Given the description of an element on the screen output the (x, y) to click on. 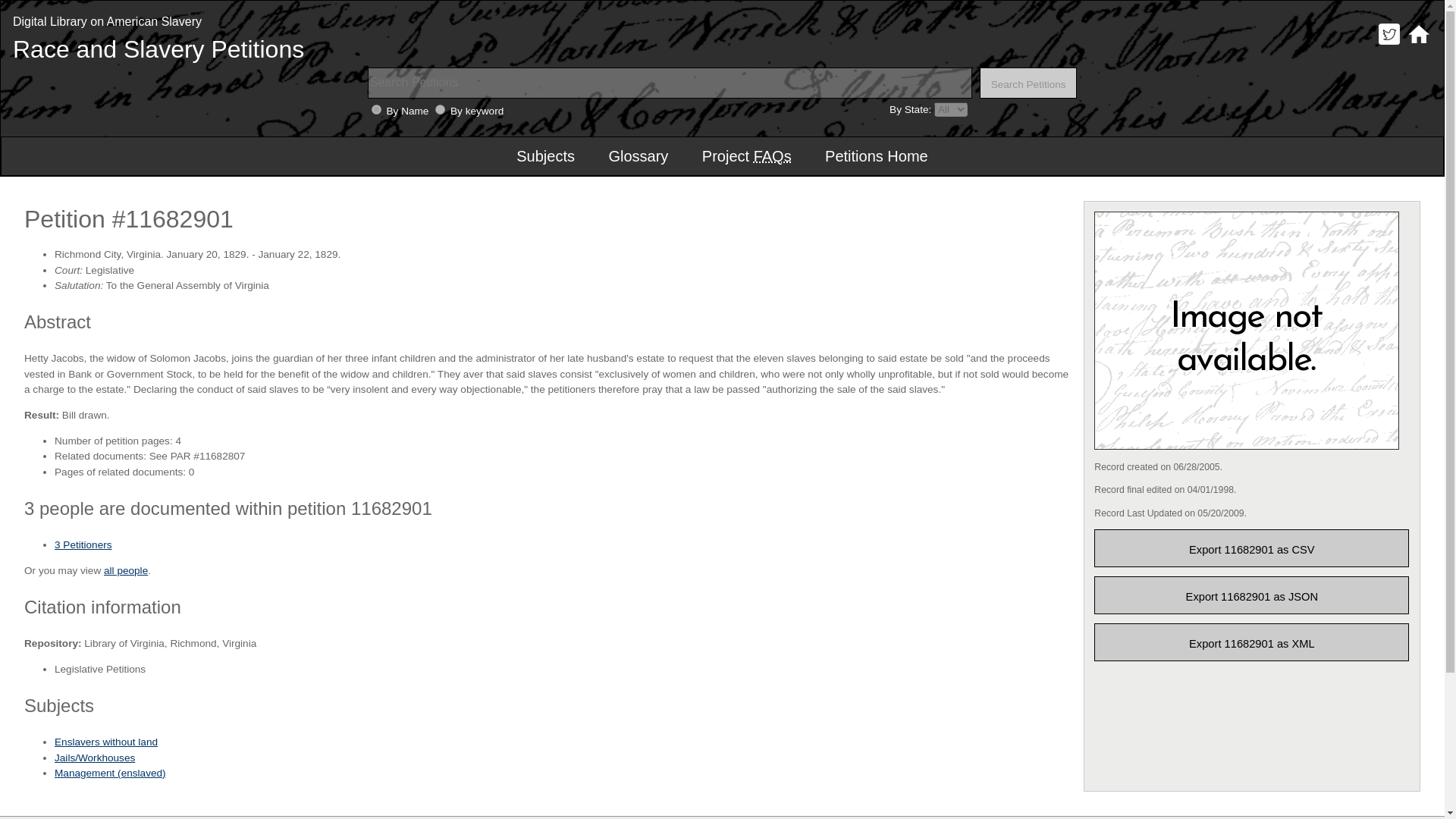
all people (125, 570)
Enslavers without land (106, 741)
Frequently Asked Questions (773, 156)
Search Petitions (1028, 82)
view all people in this record (125, 570)
Digital Library on American Slavery Home Page (1418, 43)
Export 11682901 as XML (1251, 641)
export record information as xml (1251, 641)
Subjects (544, 156)
Project FAQs (746, 156)
Petitions Home (876, 156)
Glossary (637, 156)
1 (440, 109)
0 (376, 109)
Digital Library on American Slavery Twitter (1389, 43)
